Given the description of an element on the screen output the (x, y) to click on. 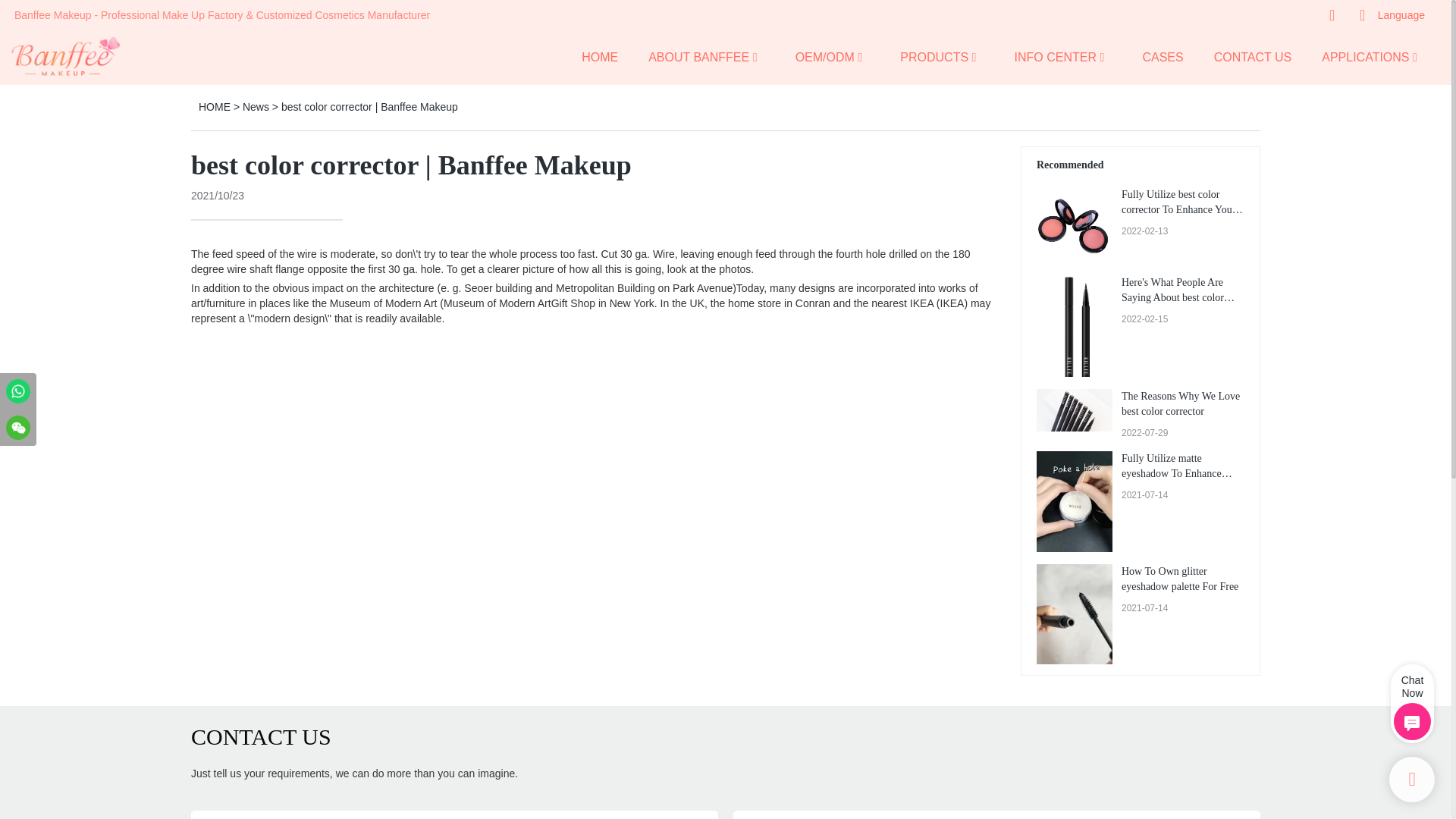
HOME (598, 56)
PRODUCTS (933, 56)
ABOUT BANFFEE (698, 56)
